Given the description of an element on the screen output the (x, y) to click on. 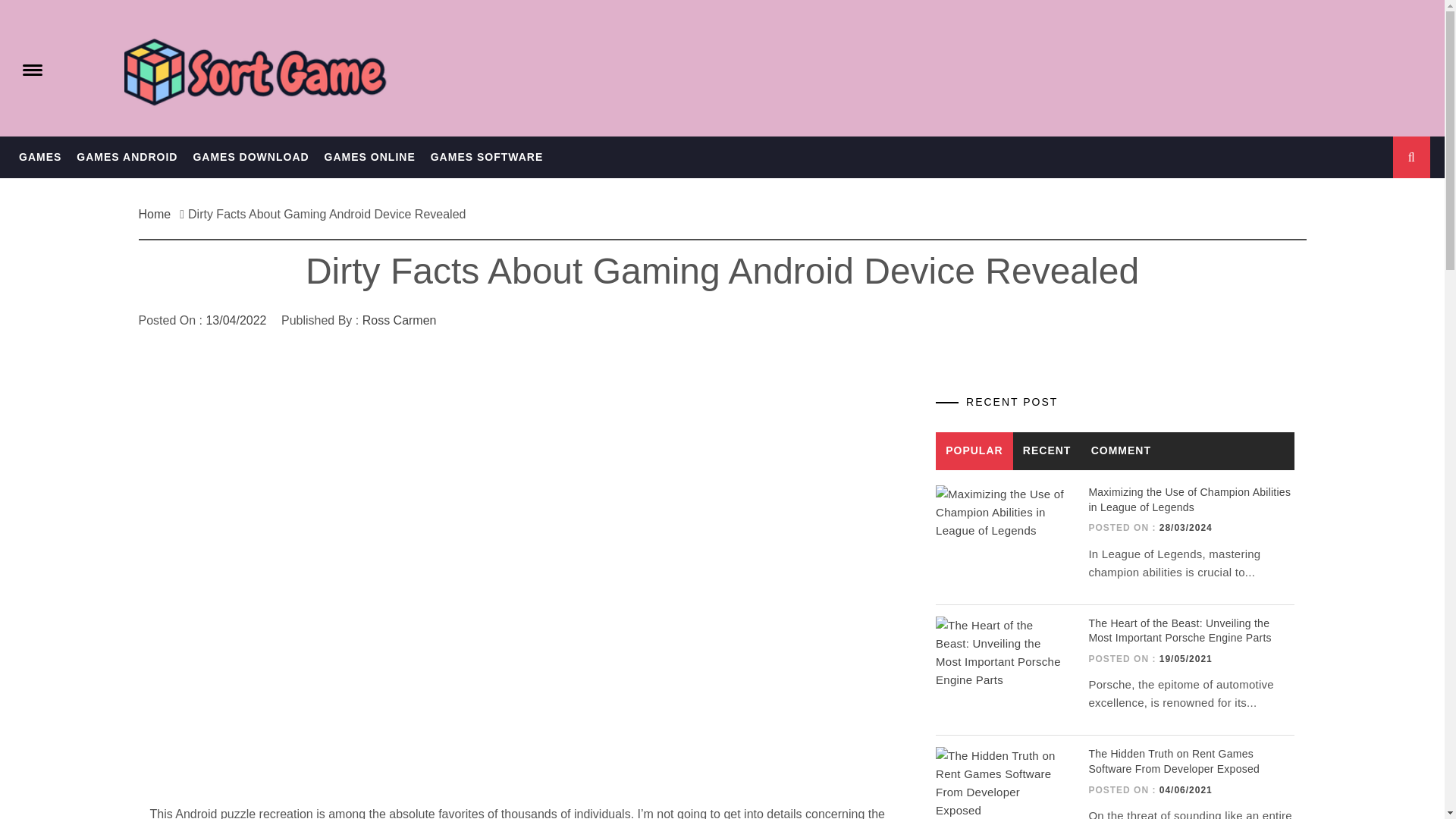
GAMES SOFTWARE (487, 157)
Search (797, 37)
GAMES (39, 157)
GAMES ONLINE (370, 157)
Home (158, 214)
Ross Carmen (399, 319)
